Given the description of an element on the screen output the (x, y) to click on. 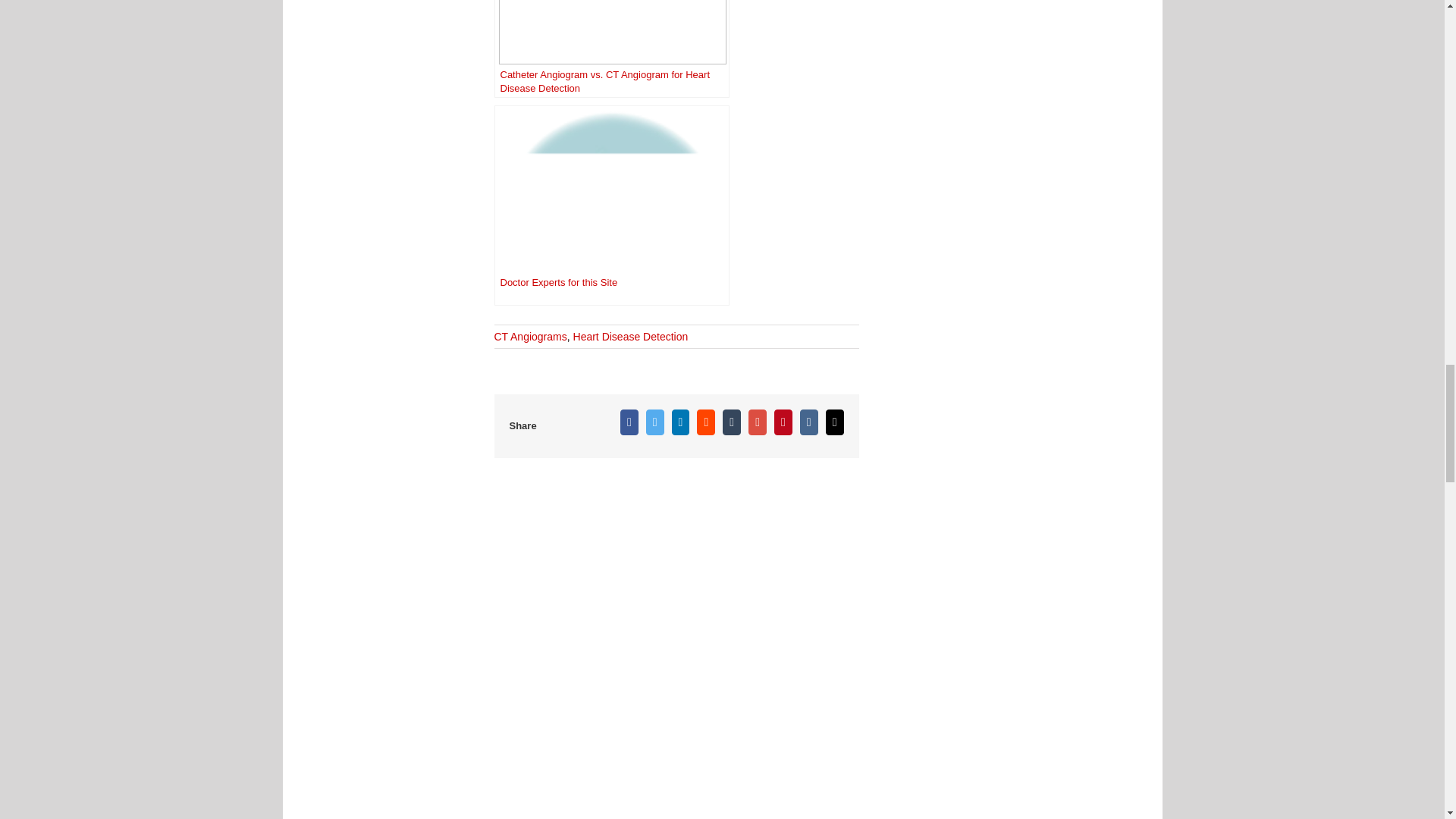
Doctor Experts for this Site (612, 205)
